Given the description of an element on the screen output the (x, y) to click on. 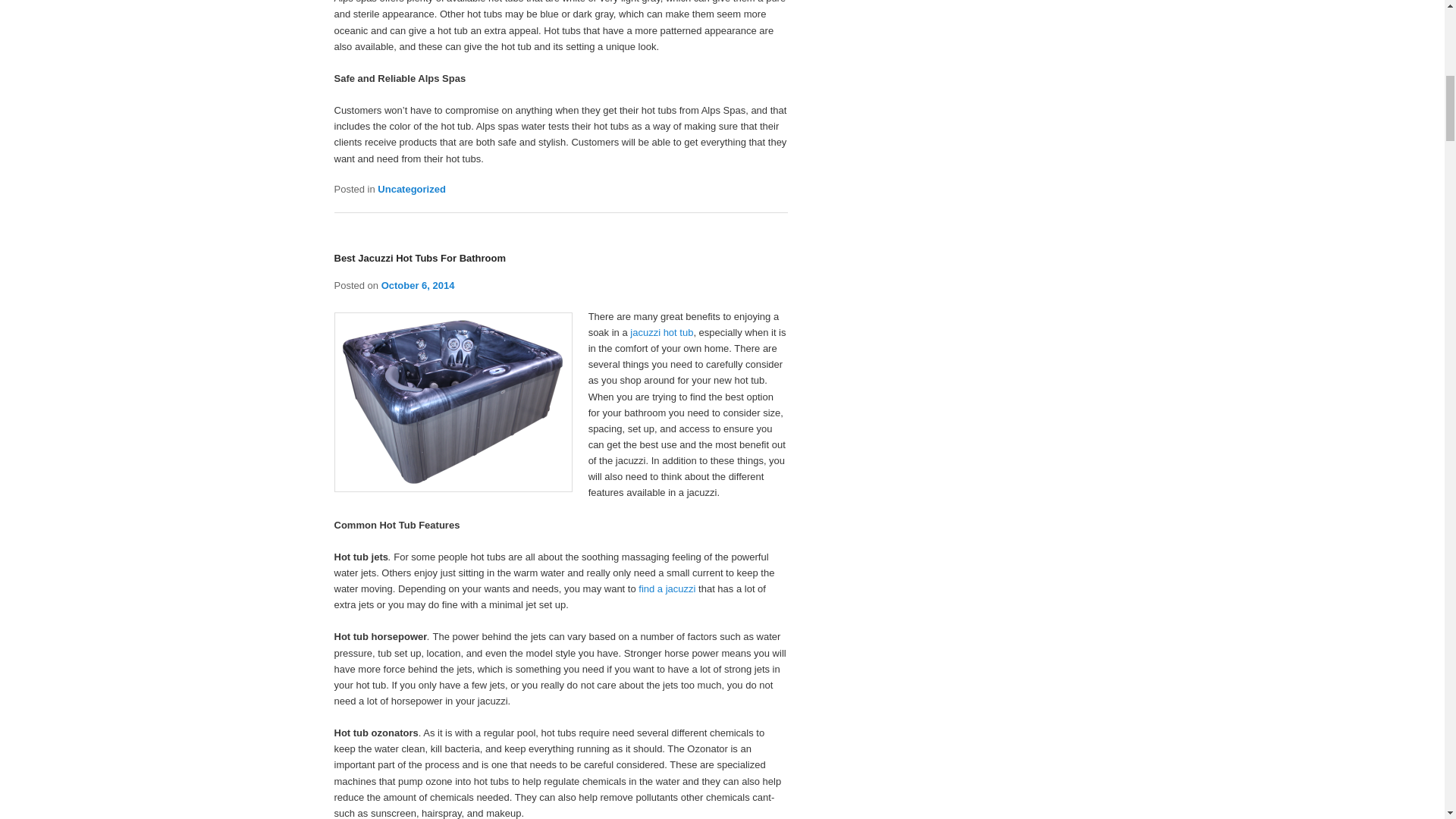
find a jacuzzi (667, 588)
find a jacuzzi (667, 588)
1:01 pm (417, 285)
jacuzzi hot tub (661, 332)
Best Jacuzzi Hot Tubs For Bathroom (419, 257)
jacuzzi hot tub (661, 332)
October 6, 2014 (417, 285)
Uncategorized (411, 188)
Permalink to Best Jacuzzi Hot Tubs For Bathroom (419, 257)
